Given the description of an element on the screen output the (x, y) to click on. 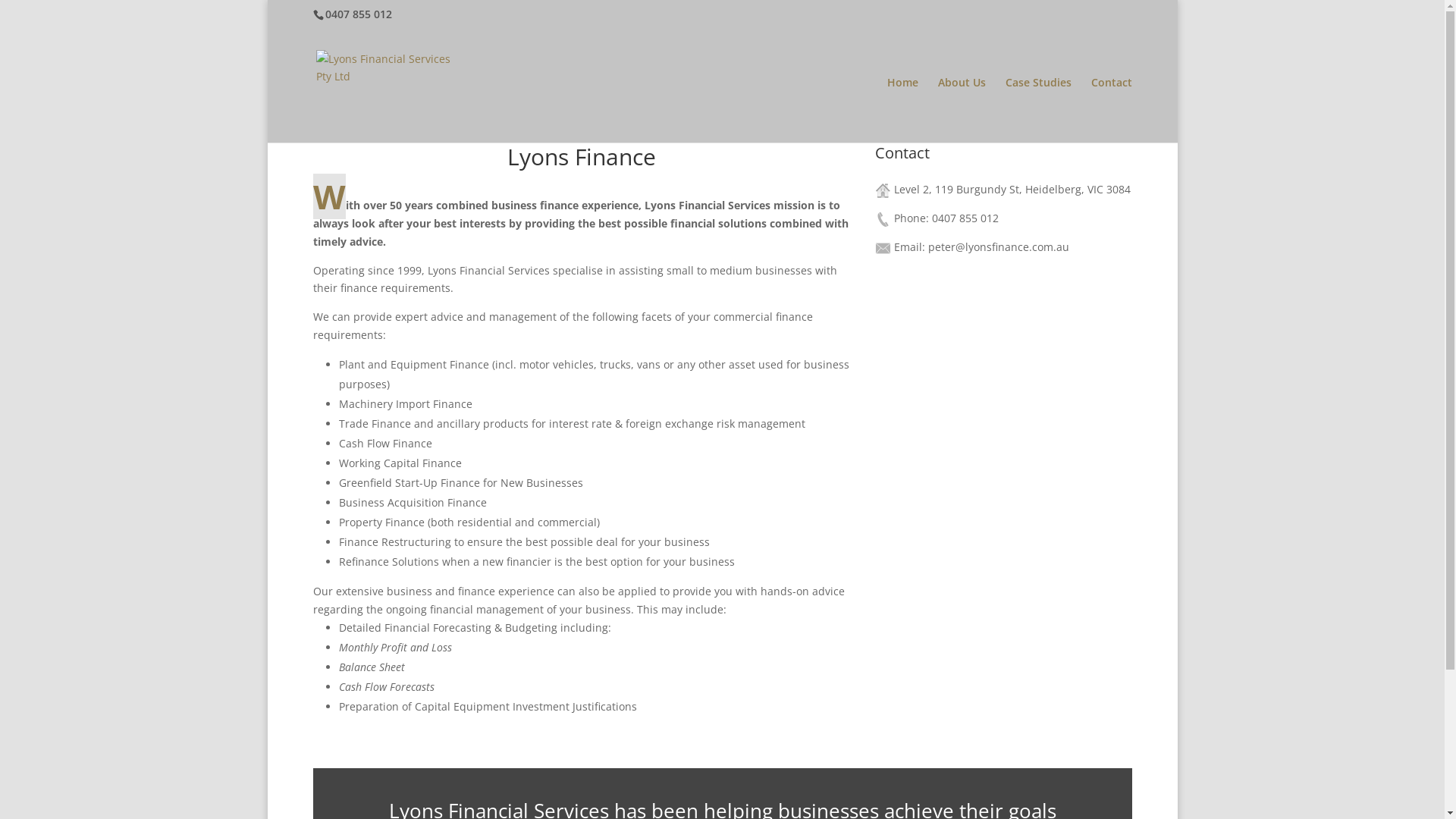
About Us Element type: text (961, 109)
Case Studies Element type: text (1038, 109)
Contact Element type: text (1110, 109)
Home Element type: text (902, 109)
